Given the description of an element on the screen output the (x, y) to click on. 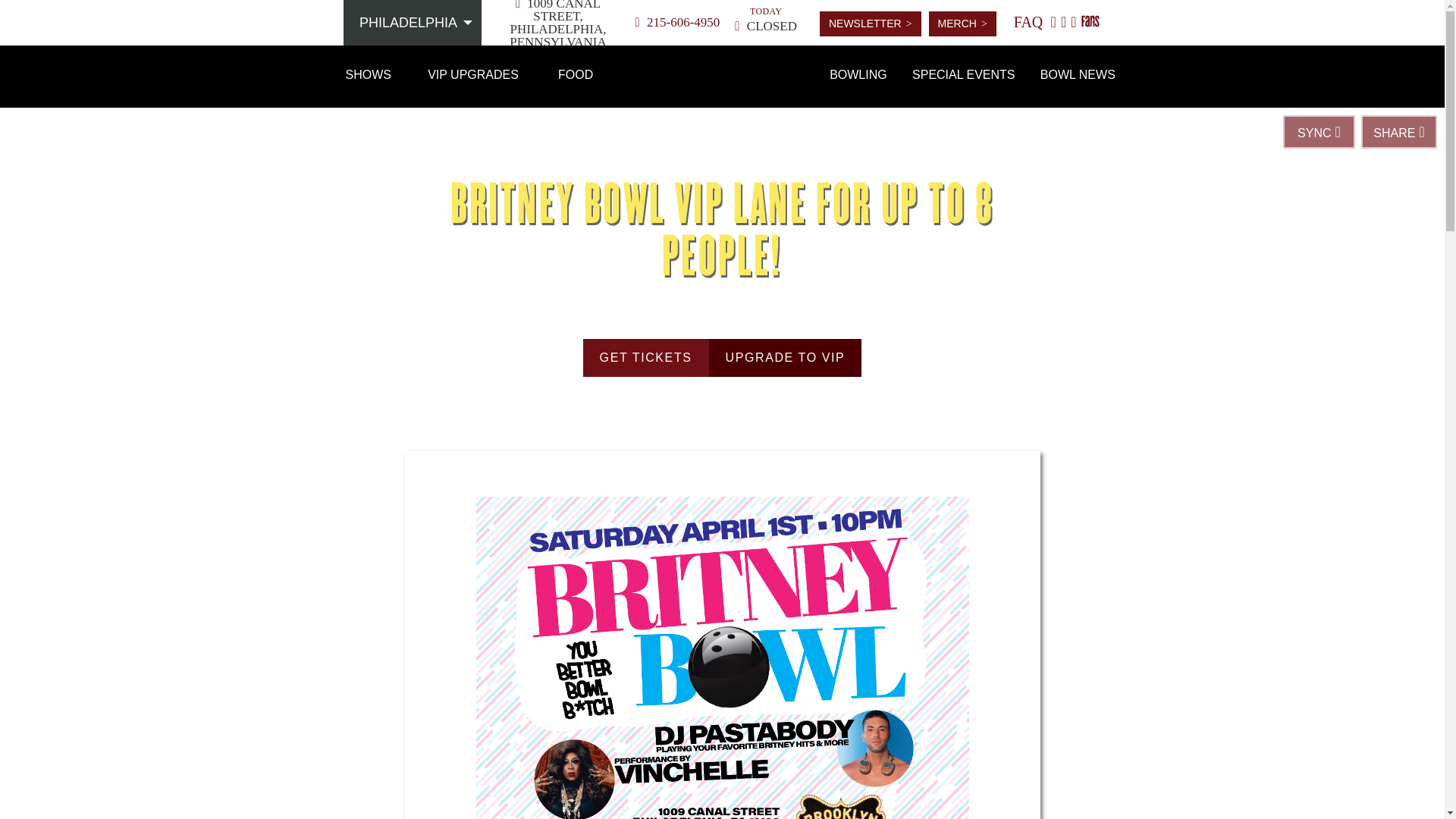
FOOD (575, 74)
BOWL NEWS (1076, 74)
SPECIAL EVENTS (963, 74)
PHILADELPHIA (722, 76)
GET TICKETS (646, 357)
SHARE (1398, 132)
VIP UPGRADES (472, 74)
SHOWS (368, 74)
FAQ (1028, 21)
UPGRADE TO VIP (785, 357)
